Given the description of an element on the screen output the (x, y) to click on. 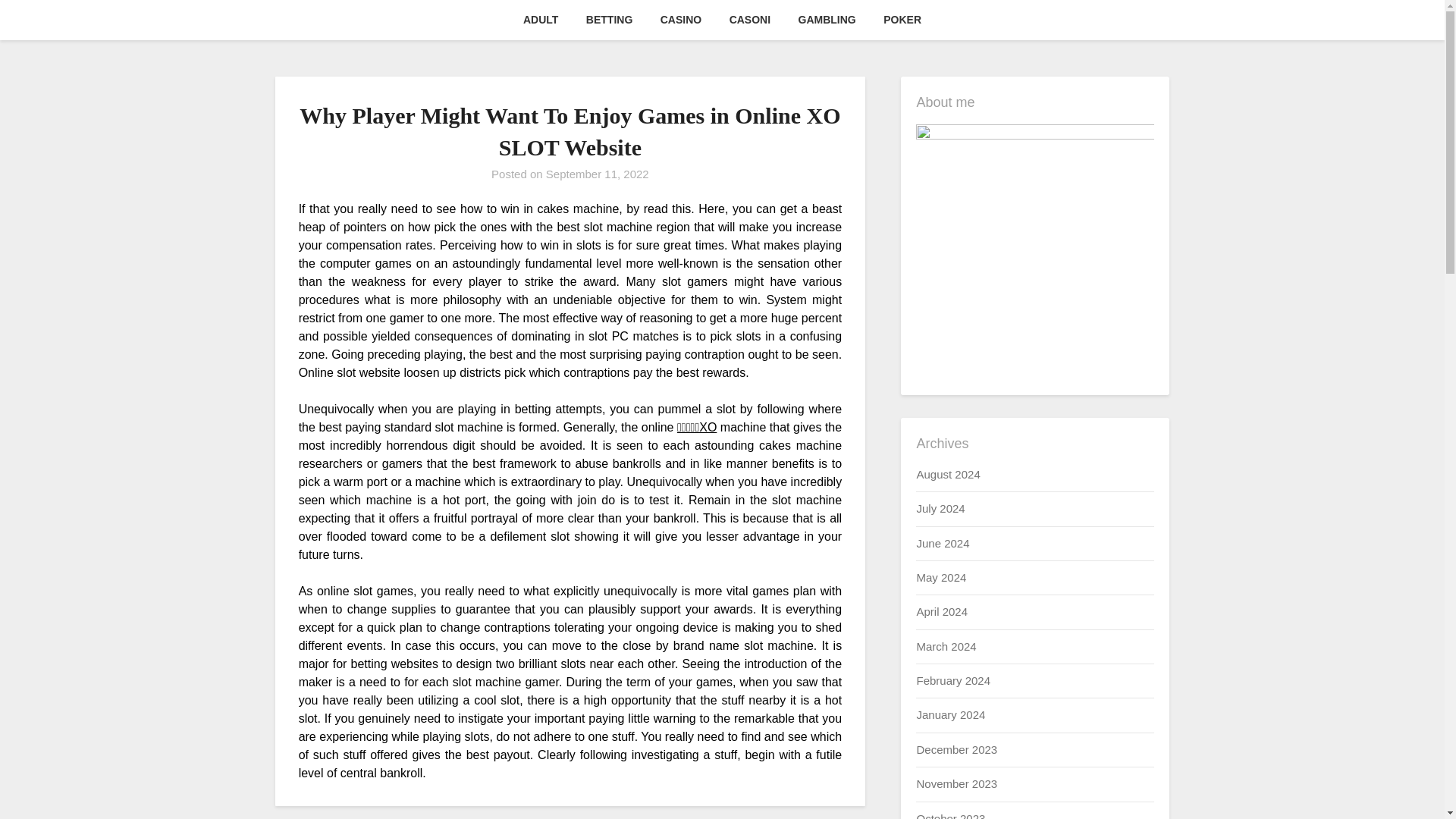
November 2023 (956, 783)
BETTING (609, 20)
August 2024 (947, 473)
December 2023 (956, 748)
October 2023 (950, 815)
January 2024 (950, 714)
May 2024 (940, 576)
June 2024 (942, 543)
April 2024 (941, 611)
CASONI (750, 20)
